Given the description of an element on the screen output the (x, y) to click on. 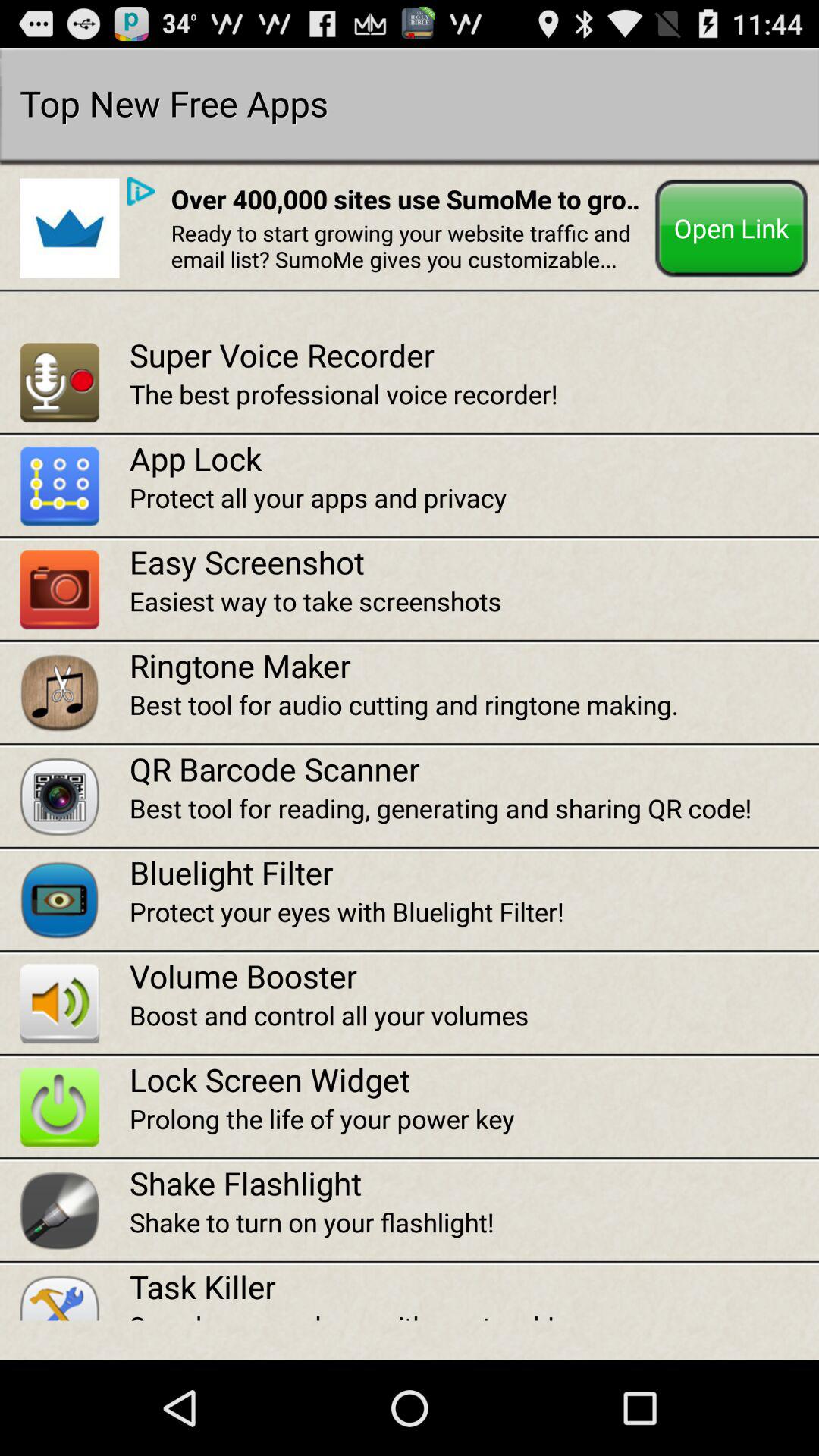
select the lock screen widget (474, 1079)
